Given the description of an element on the screen output the (x, y) to click on. 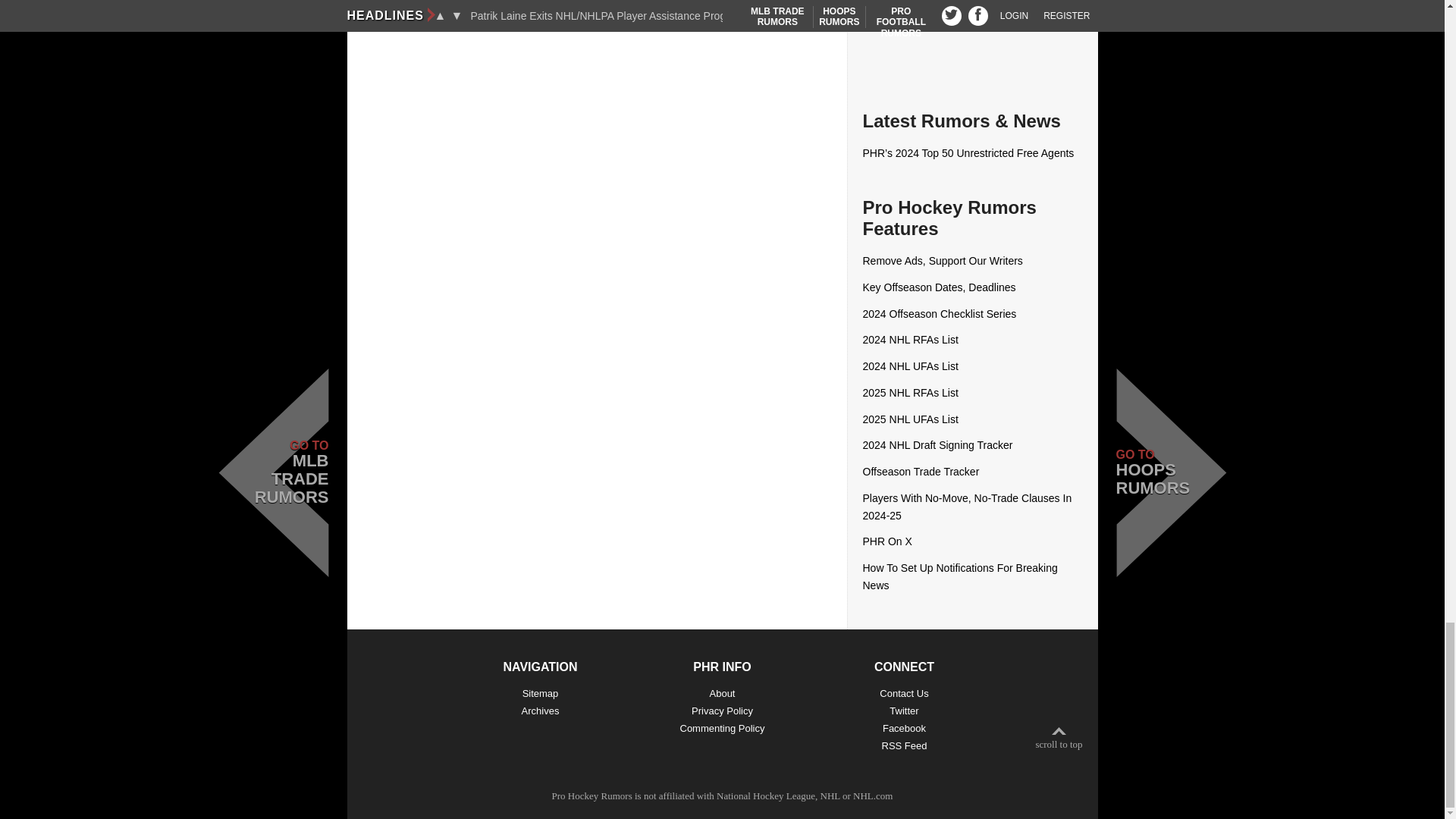
Pro Hockey Rumors (591, 795)
